Given the description of an element on the screen output the (x, y) to click on. 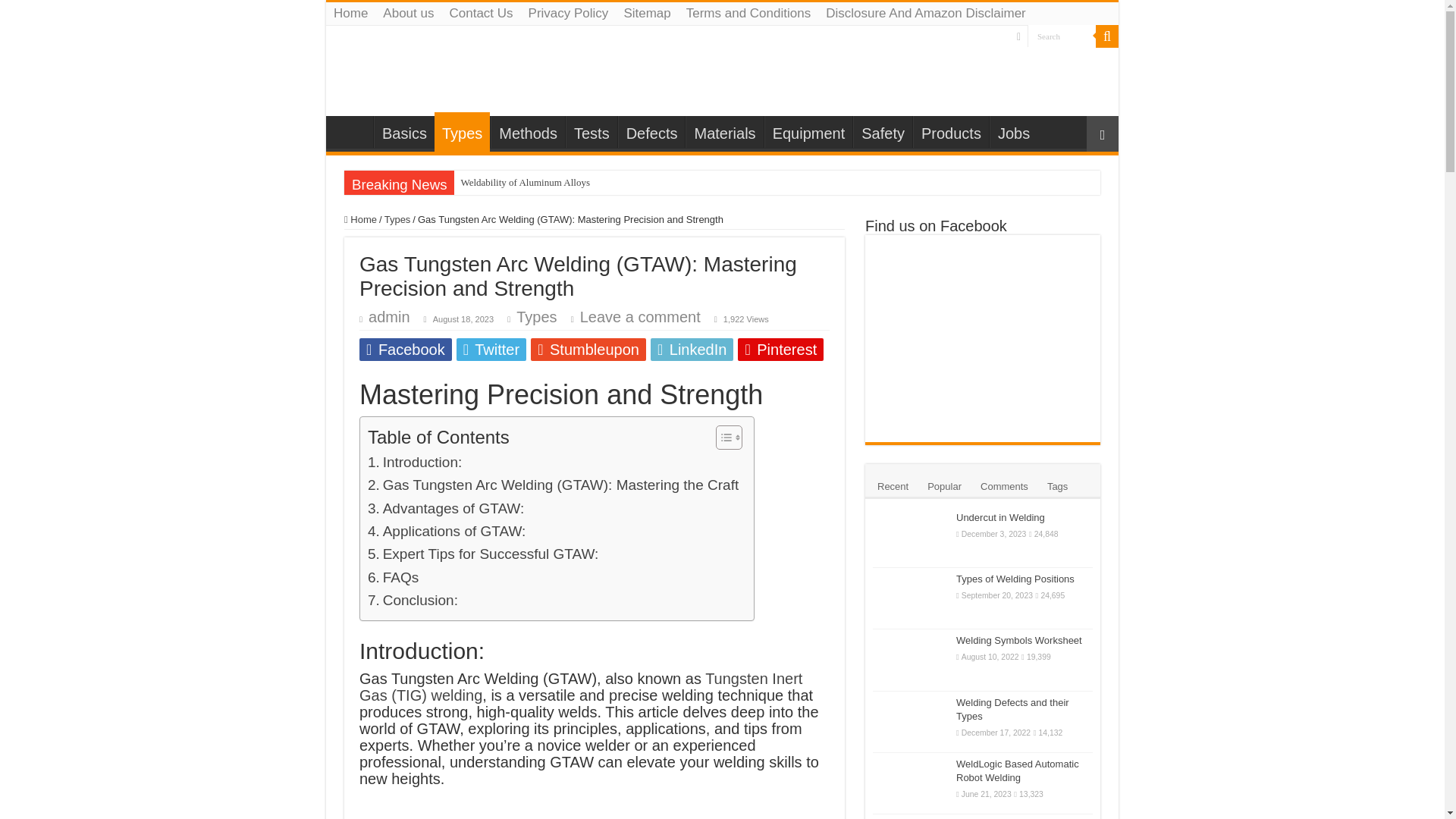
Tests (591, 132)
Equipment (808, 132)
Disclosure And Amazon Disclaimer (925, 13)
Terms and Conditions (748, 13)
Home (350, 13)
Search (1107, 36)
Leave a comment (639, 316)
Weldability of Aluminum Alloys (599, 182)
Methods (527, 132)
Types (536, 316)
